Given the description of an element on the screen output the (x, y) to click on. 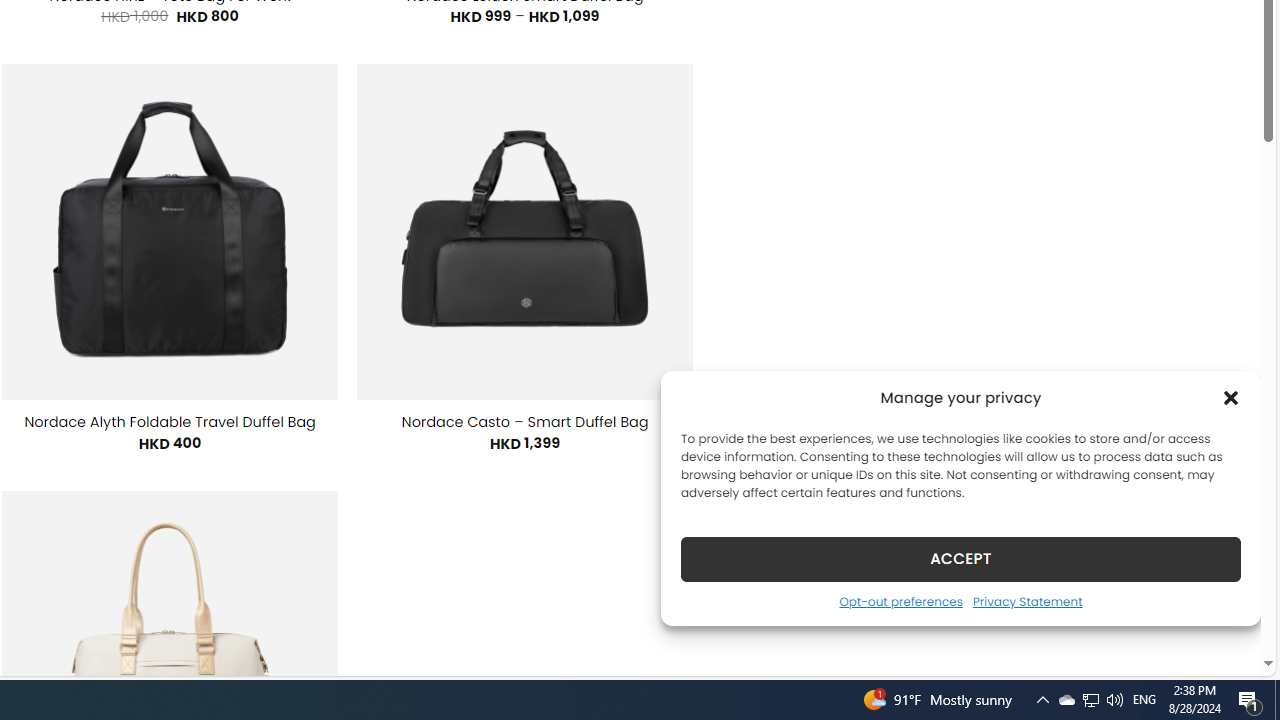
Privacy Statement (1026, 601)
Opt-out preferences (900, 601)
Class: cmplz-close (1231, 397)
ACCEPT (960, 558)
Nordace Alyth Foldable Travel Duffel Bag (170, 422)
